Given the description of an element on the screen output the (x, y) to click on. 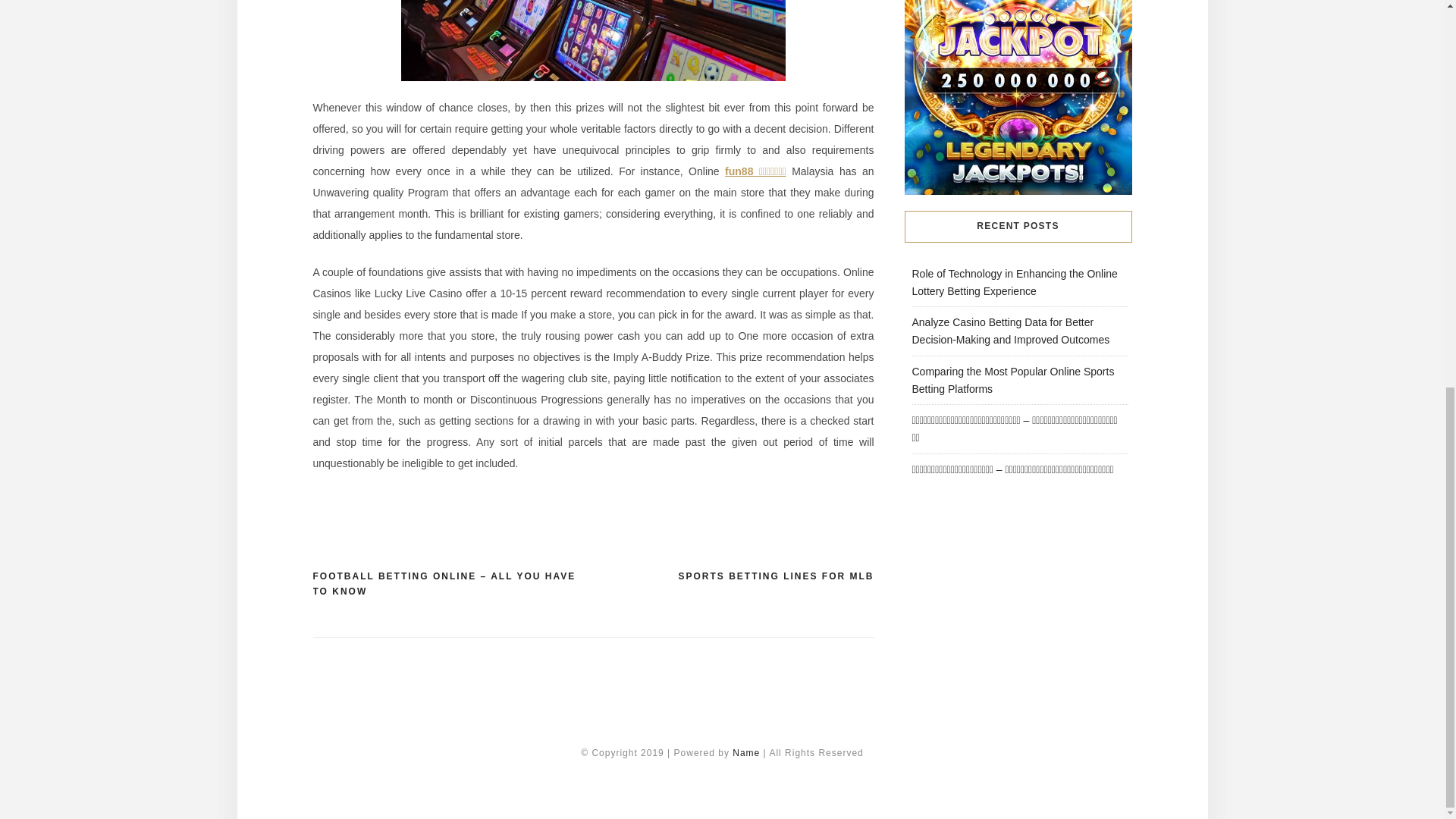
Comparing the Most Popular Online Sports Betting Platforms (1012, 379)
Name (747, 752)
SPORTS BETTING LINES FOR MLB (775, 576)
